Given the description of an element on the screen output the (x, y) to click on. 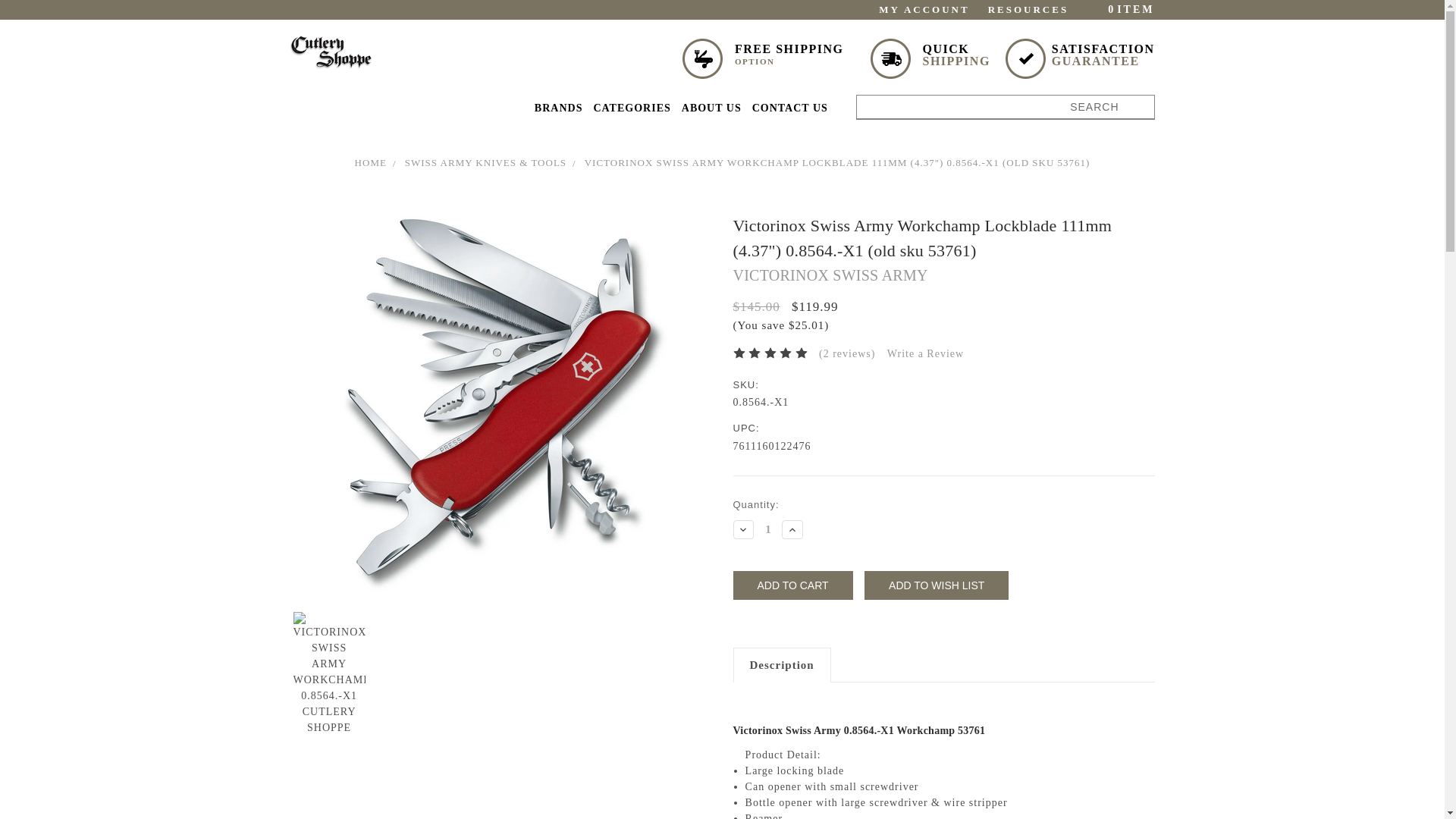
Search (1115, 9)
VICTORINOX SWISS ARMY WORKCHAMP 0.8564.-X1 CUTLERY SHOPPE (1005, 106)
MY ACCOUNT (767, 529)
Add to Wish list (916, 9)
BRANDS (936, 584)
Add to Cart (558, 111)
CATEGORIES (791, 584)
CSI (631, 111)
RESOURCES (330, 51)
